Given the description of an element on the screen output the (x, y) to click on. 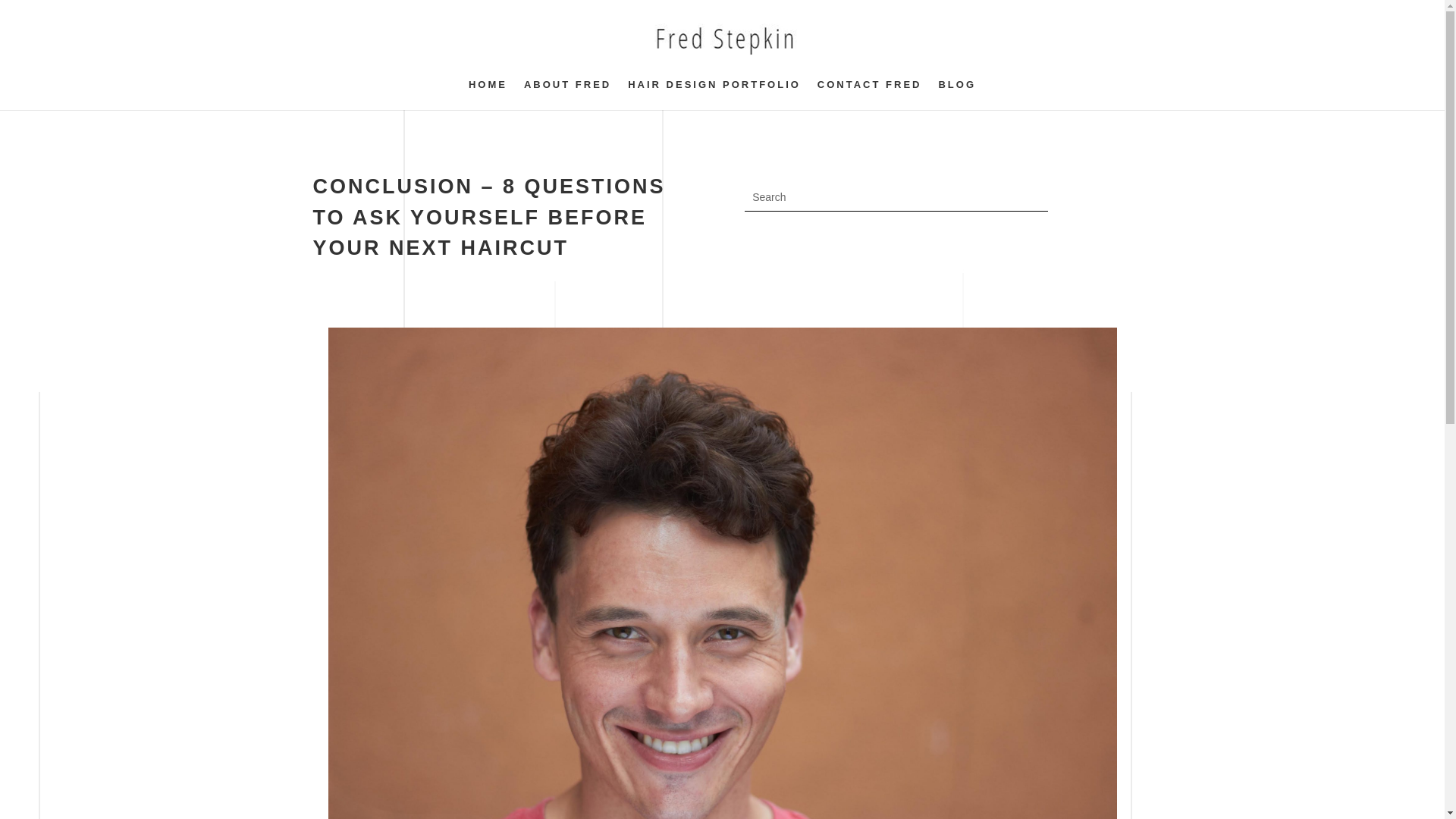
BLOG (956, 94)
CONTACT FRED (868, 94)
HAIR DESIGN PORTFOLIO (713, 94)
Search (24, 13)
ABOUT FRED (567, 94)
HOME (487, 94)
